Given the description of an element on the screen output the (x, y) to click on. 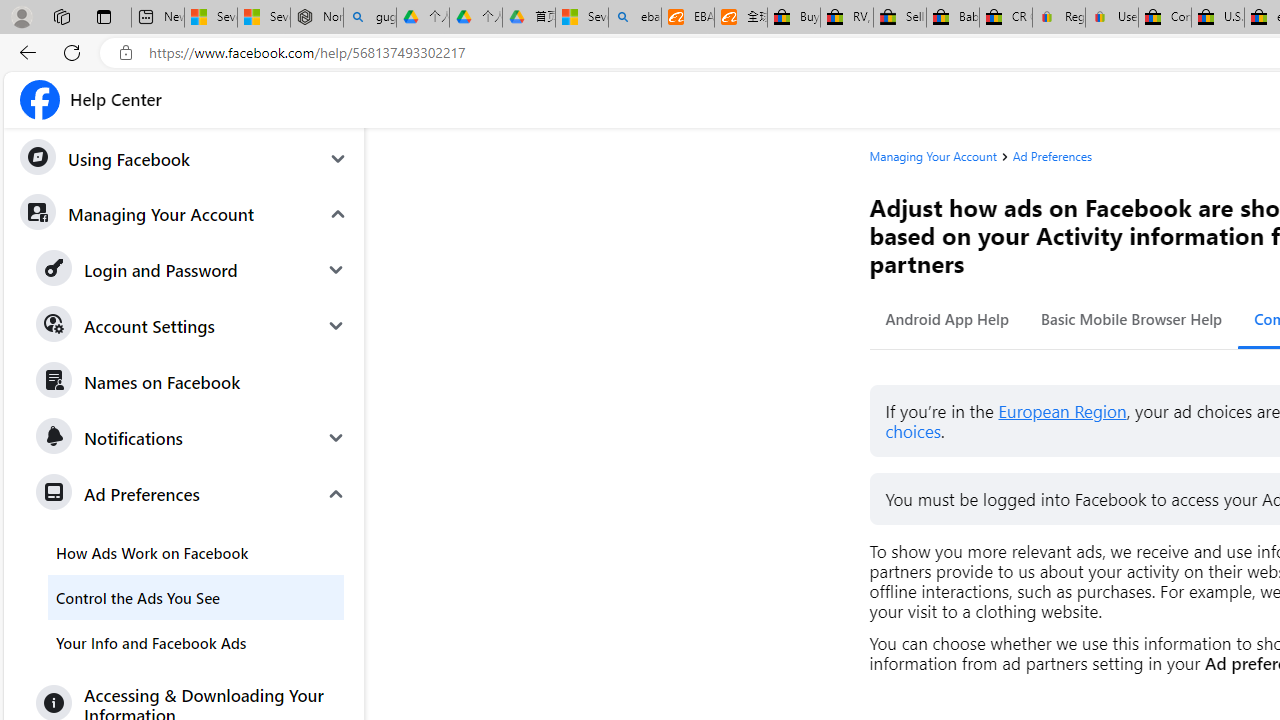
User Privacy Notice | eBay (1111, 17)
How Ads Work on Facebook (196, 552)
Register: Create a personal eBay account (1059, 17)
U.S. State Privacy Disclosures - eBay Inc. (1217, 17)
Login and Password (191, 269)
Facebook Help Center (91, 99)
Your Info and Facebook Ads (195, 642)
Notifications Expand (191, 437)
RV, Trailer & Camper Steps & Ladders for sale | eBay (846, 17)
